Given the description of an element on the screen output the (x, y) to click on. 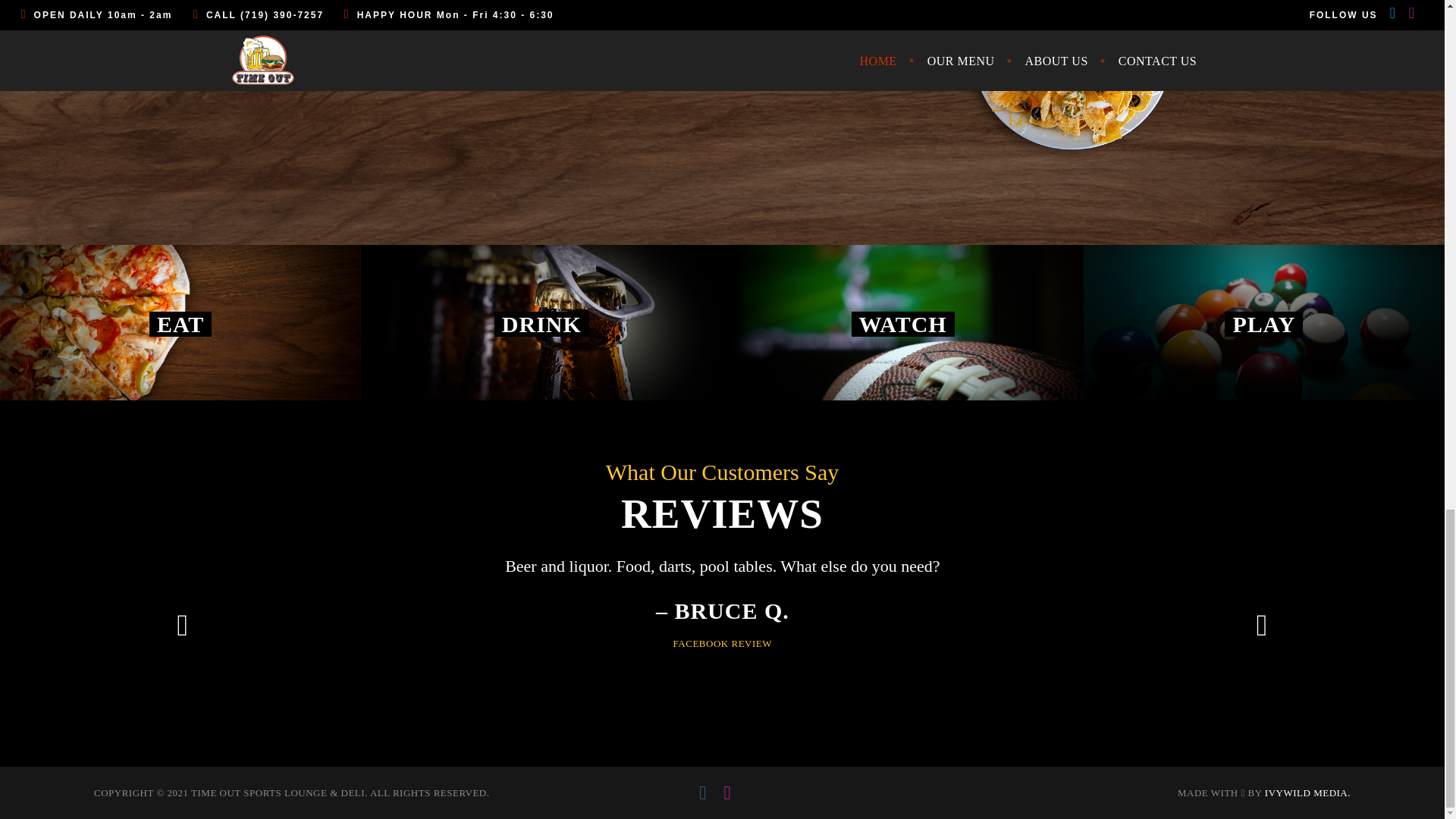
IVYWILD MEDIA. (1308, 792)
VIEW OUR MENU (168, 43)
